Given the description of an element on the screen output the (x, y) to click on. 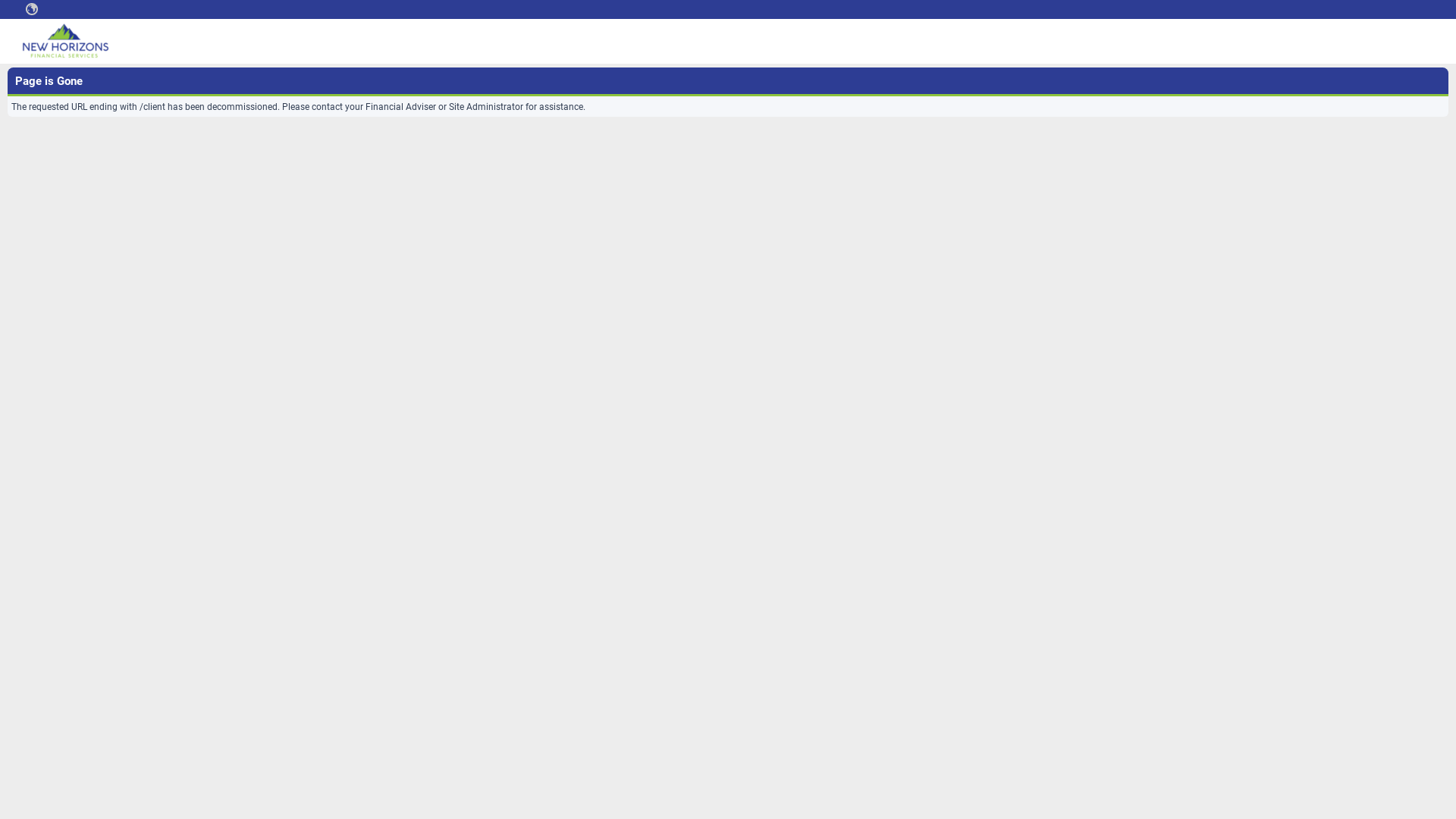
  Element type: text (31, 9)
